Given the description of an element on the screen output the (x, y) to click on. 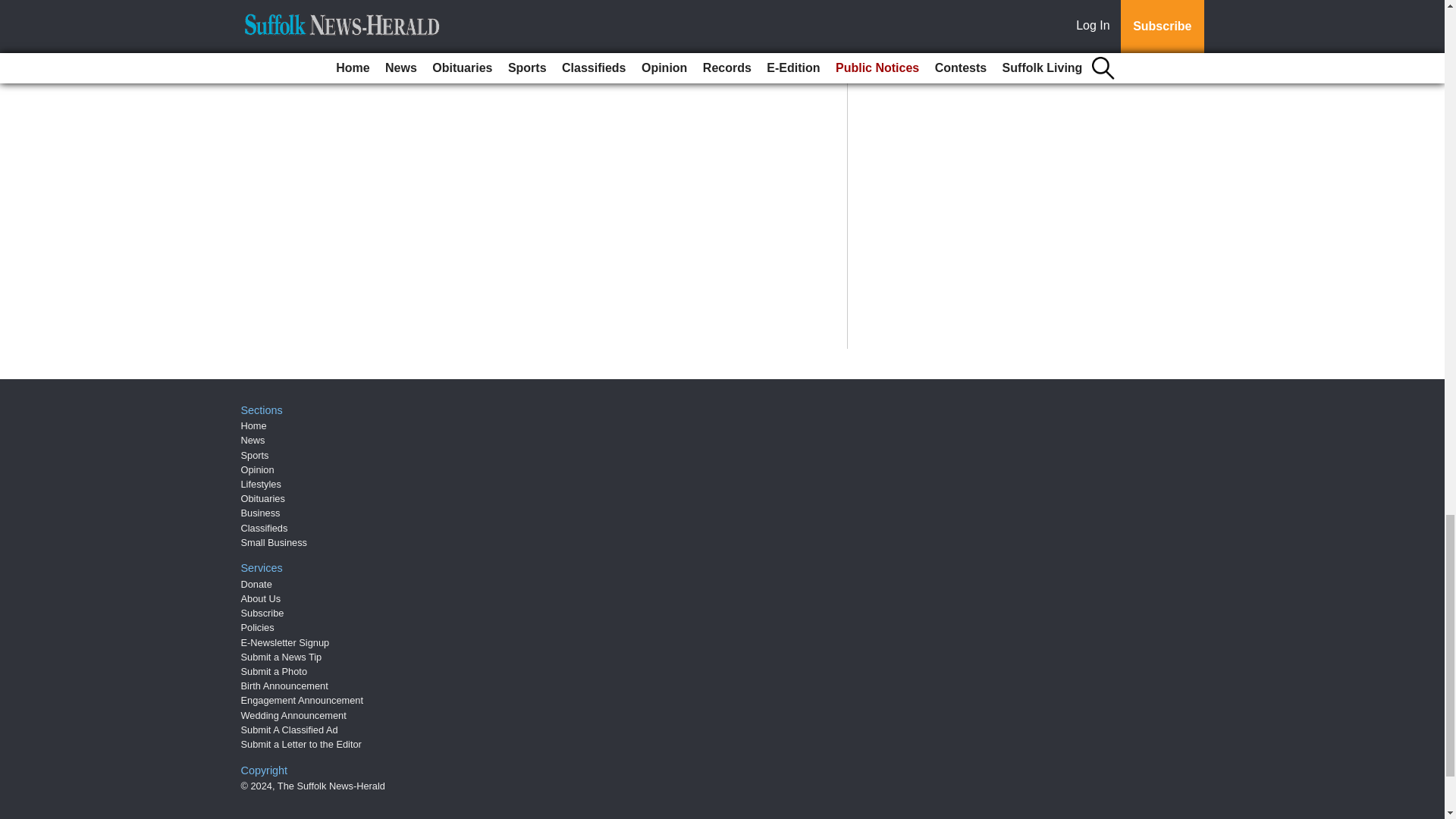
Obituaries (263, 498)
News (252, 439)
Sports (255, 455)
Business (261, 512)
Classifieds (264, 527)
Opinion (258, 469)
Home (253, 425)
Lifestyles (261, 483)
